Given the description of an element on the screen output the (x, y) to click on. 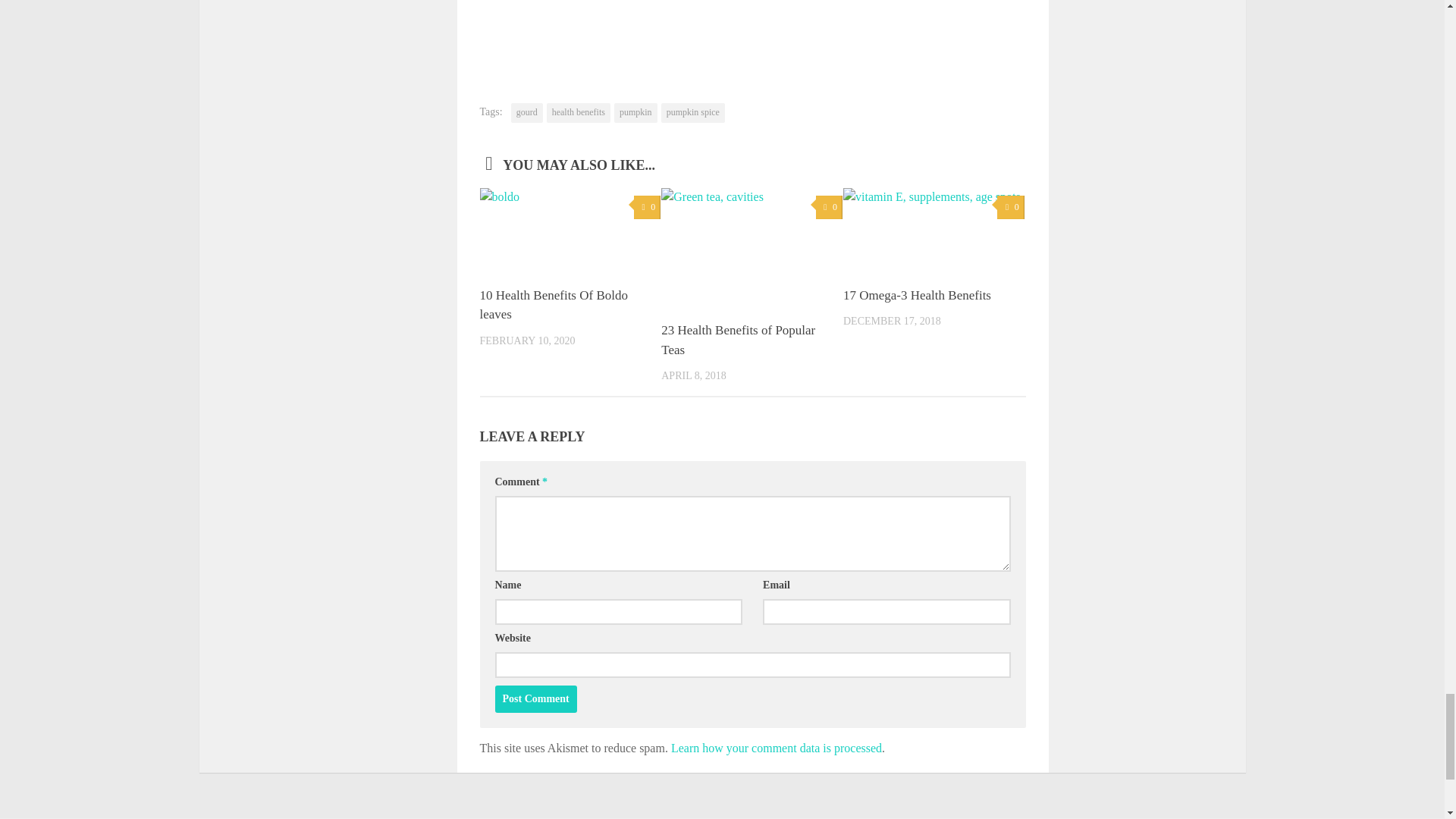
0 (647, 207)
pumpkin (636, 112)
gourd (527, 112)
health benefits (578, 112)
0 (829, 207)
10 Health Benefits Of Boldo leaves (553, 305)
Post Comment (535, 698)
pumpkin spice (693, 112)
